Given the description of an element on the screen output the (x, y) to click on. 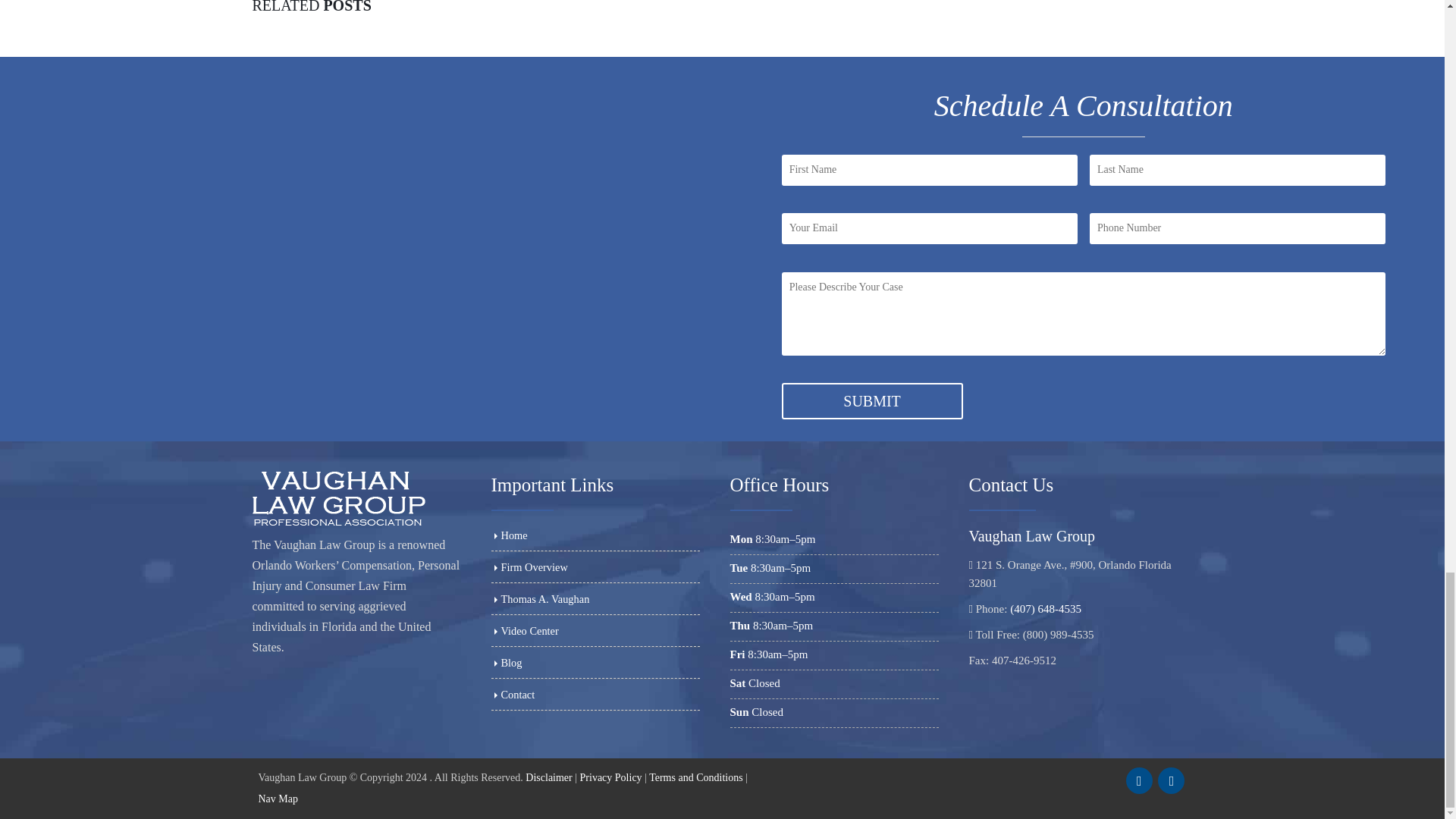
SUBMIT (871, 401)
Nav Map (277, 798)
